Given the description of an element on the screen output the (x, y) to click on. 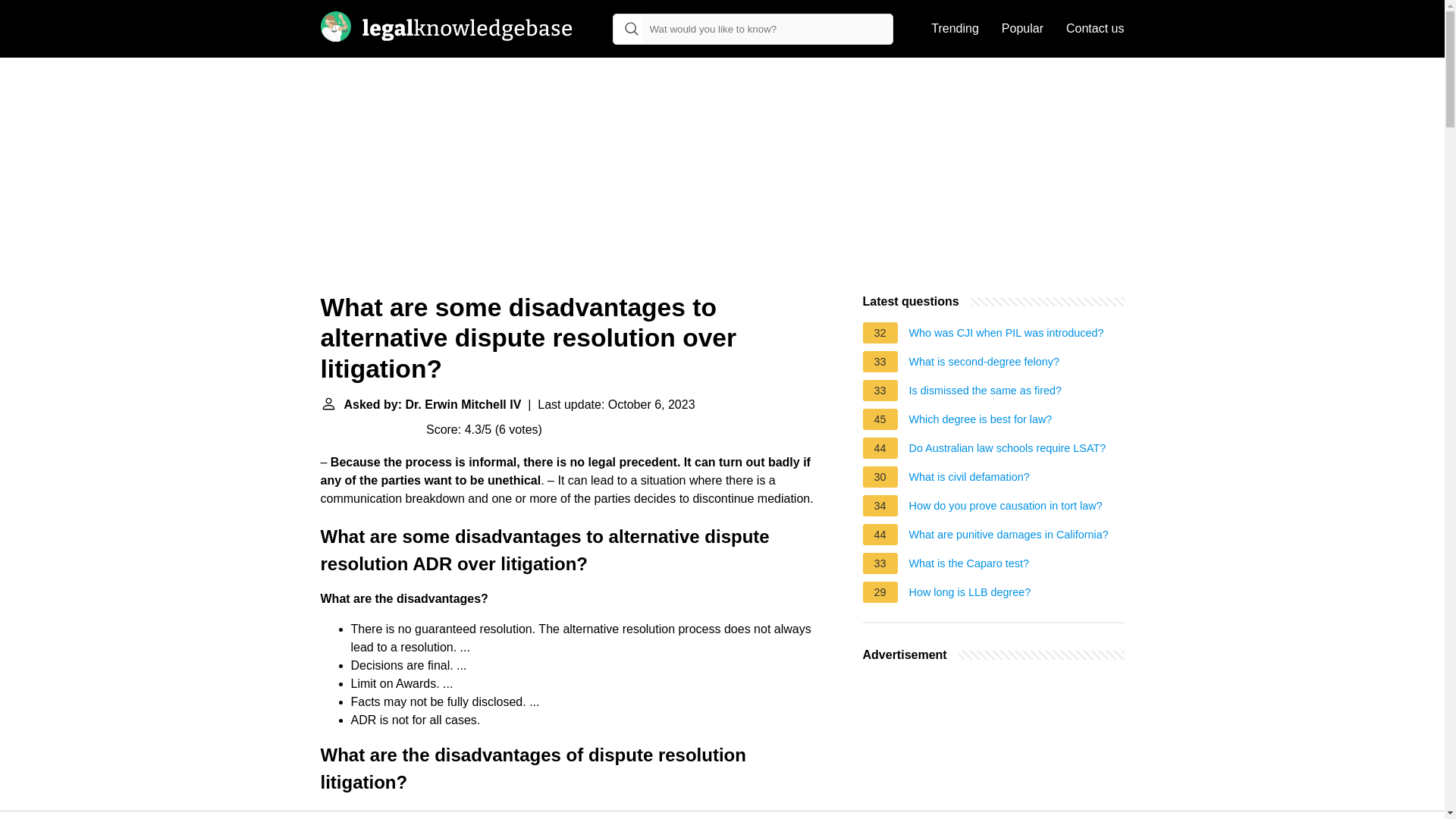
Do Australian law schools require LSAT? (1007, 450)
Which degree is best for law? (980, 421)
How do you prove causation in tort law? (1005, 507)
What is the Caparo test? (968, 565)
What is civil defamation? (968, 478)
Contact us (1094, 28)
Trending (954, 28)
Is dismissed the same as fired? (985, 392)
How long is LLB degree? (969, 594)
Who was CJI when PIL was introduced? (1005, 334)
